Given the description of an element on the screen output the (x, y) to click on. 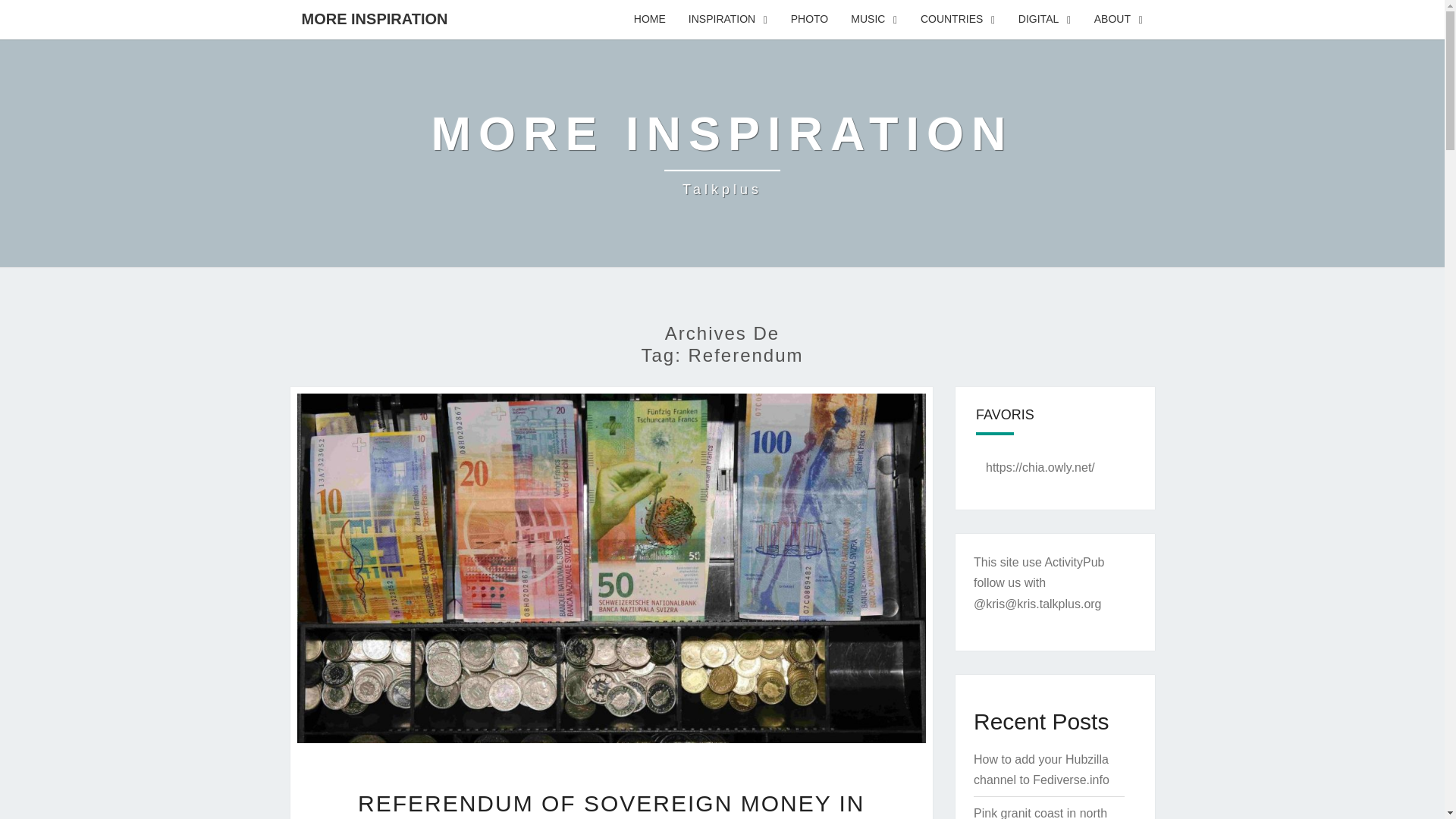
ABOUT (1118, 19)
PHOTO (809, 19)
How to add your Hubzilla channel to Fediverse.info (1041, 769)
MUSIC (874, 19)
REFERENDUM OF SOVEREIGN MONEY IN SWITZERLAND (611, 805)
DIGITAL (1045, 19)
HOME (650, 19)
Pink granit coast in north Britany (721, 152)
More inspiration (1040, 812)
